Given the description of an element on the screen output the (x, y) to click on. 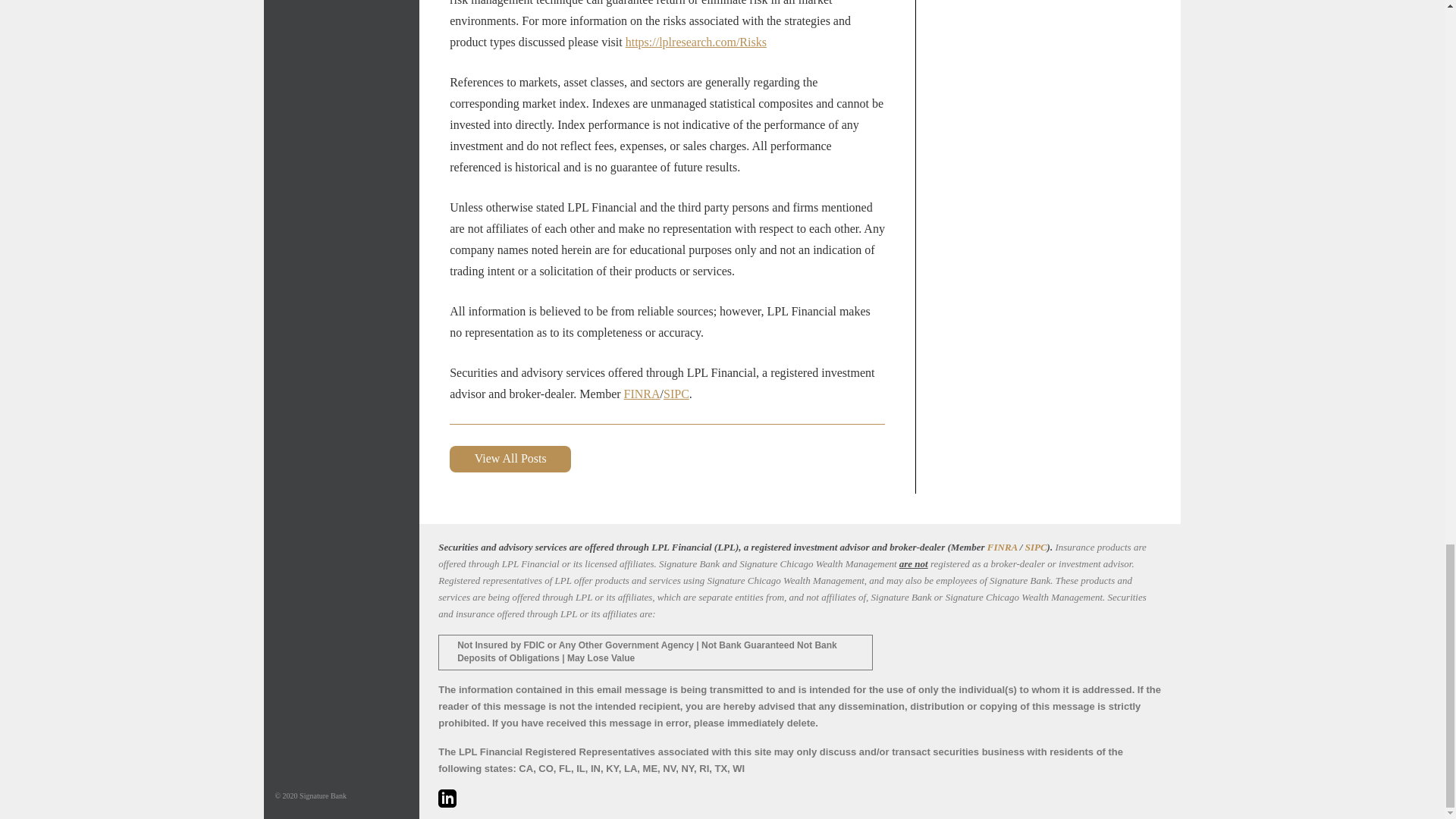
SIPC (675, 393)
View All Posts (509, 458)
SIPC (1035, 546)
FINRA (1002, 546)
FINRA (642, 393)
